Given the description of an element on the screen output the (x, y) to click on. 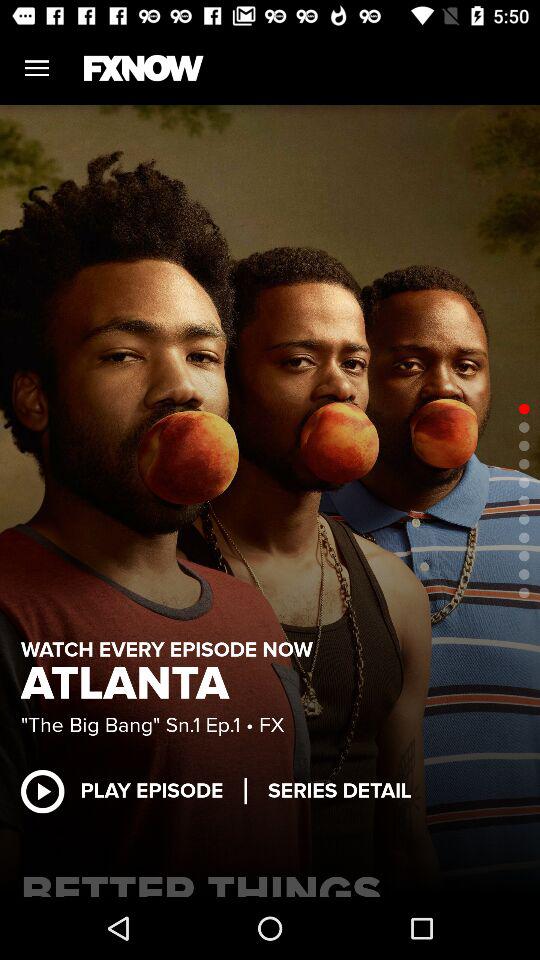
click the item below the big bang (339, 790)
